Given the description of an element on the screen output the (x, y) to click on. 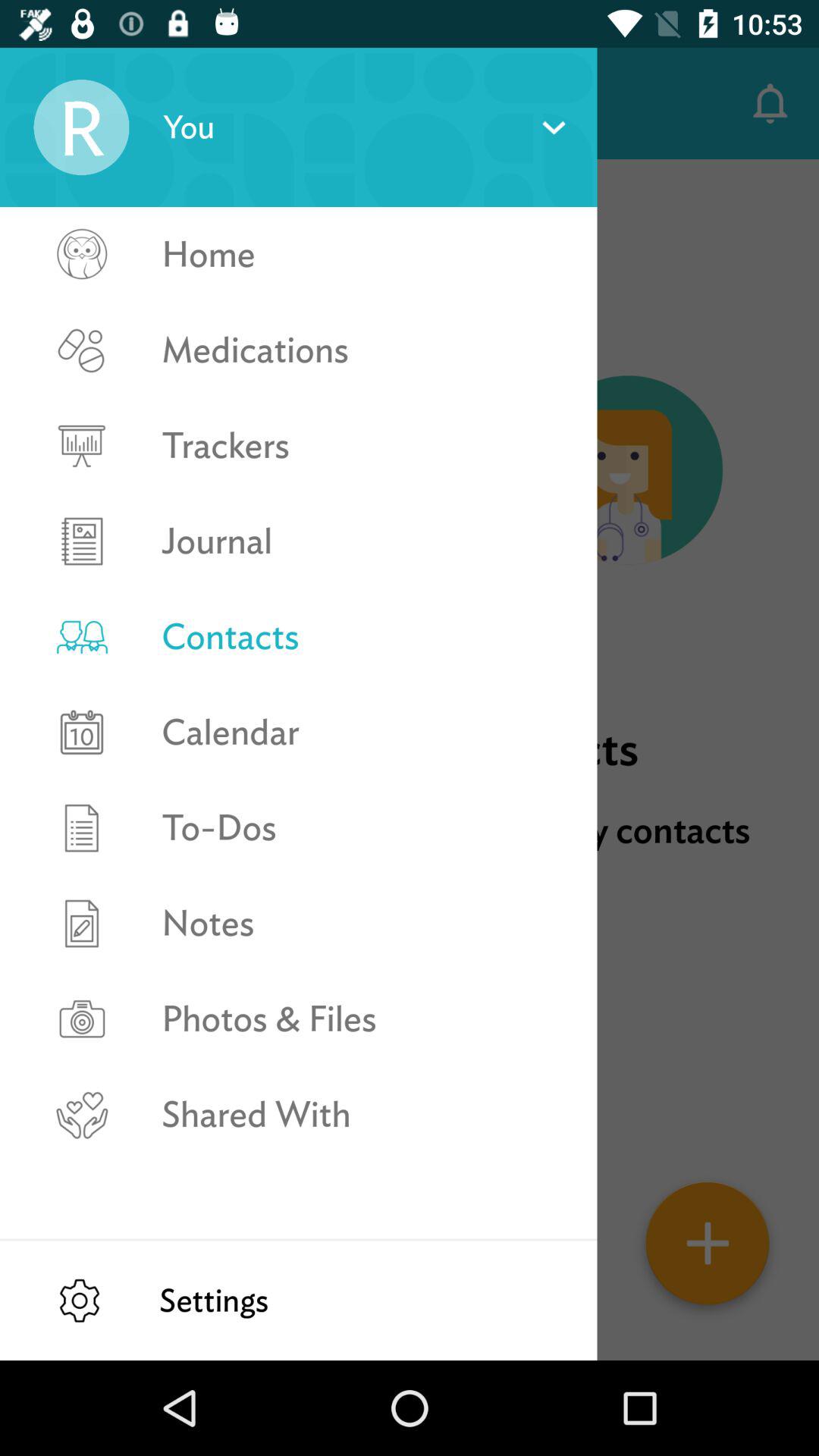
turn off icon above trackers (363, 349)
